Given the description of an element on the screen output the (x, y) to click on. 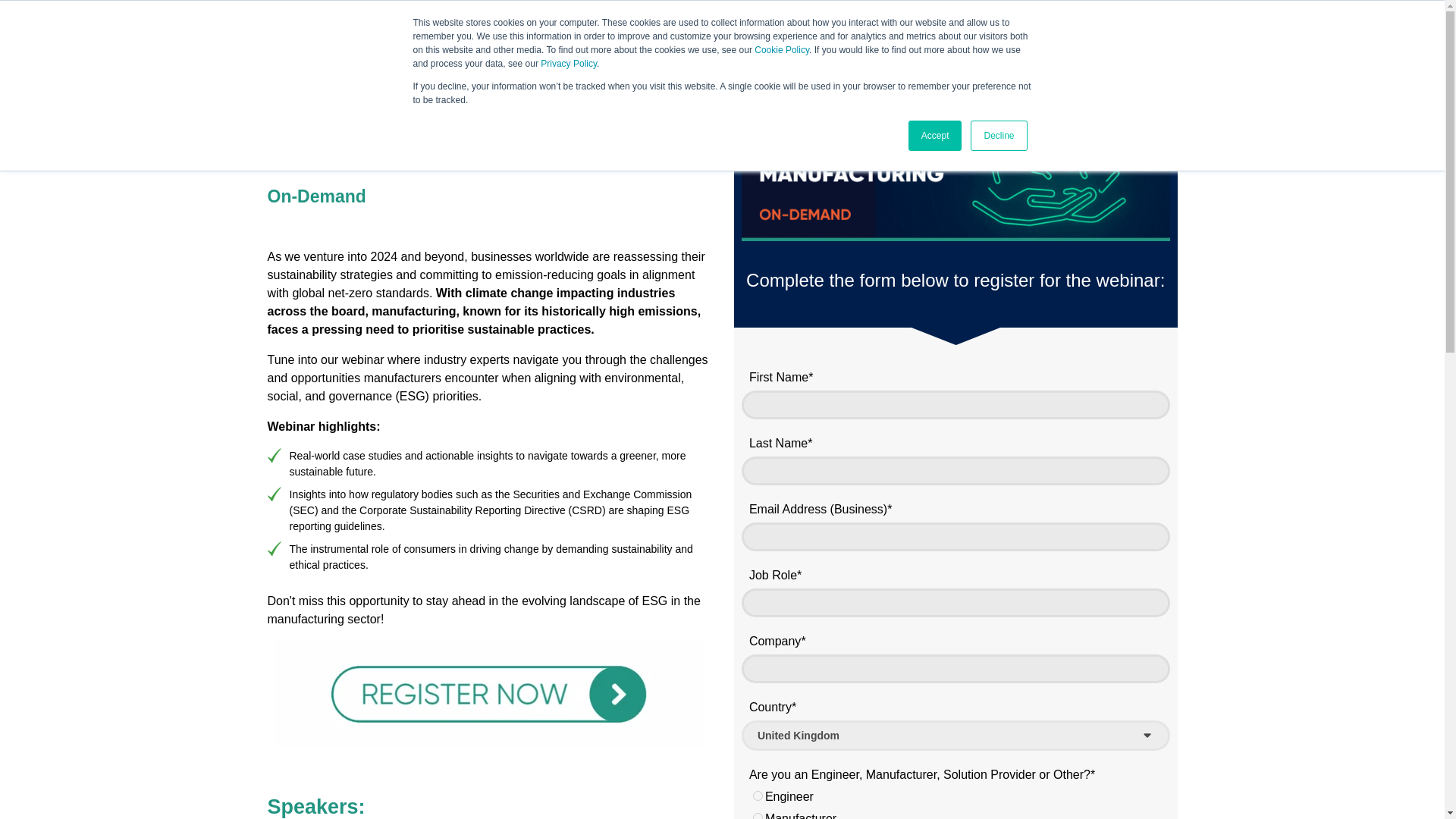
Cookie Policy (781, 50)
Privacy Policy (568, 63)
Decline (998, 135)
Engineer (757, 795)
Accept (935, 135)
Manufacturer (757, 816)
